Given the description of an element on the screen output the (x, y) to click on. 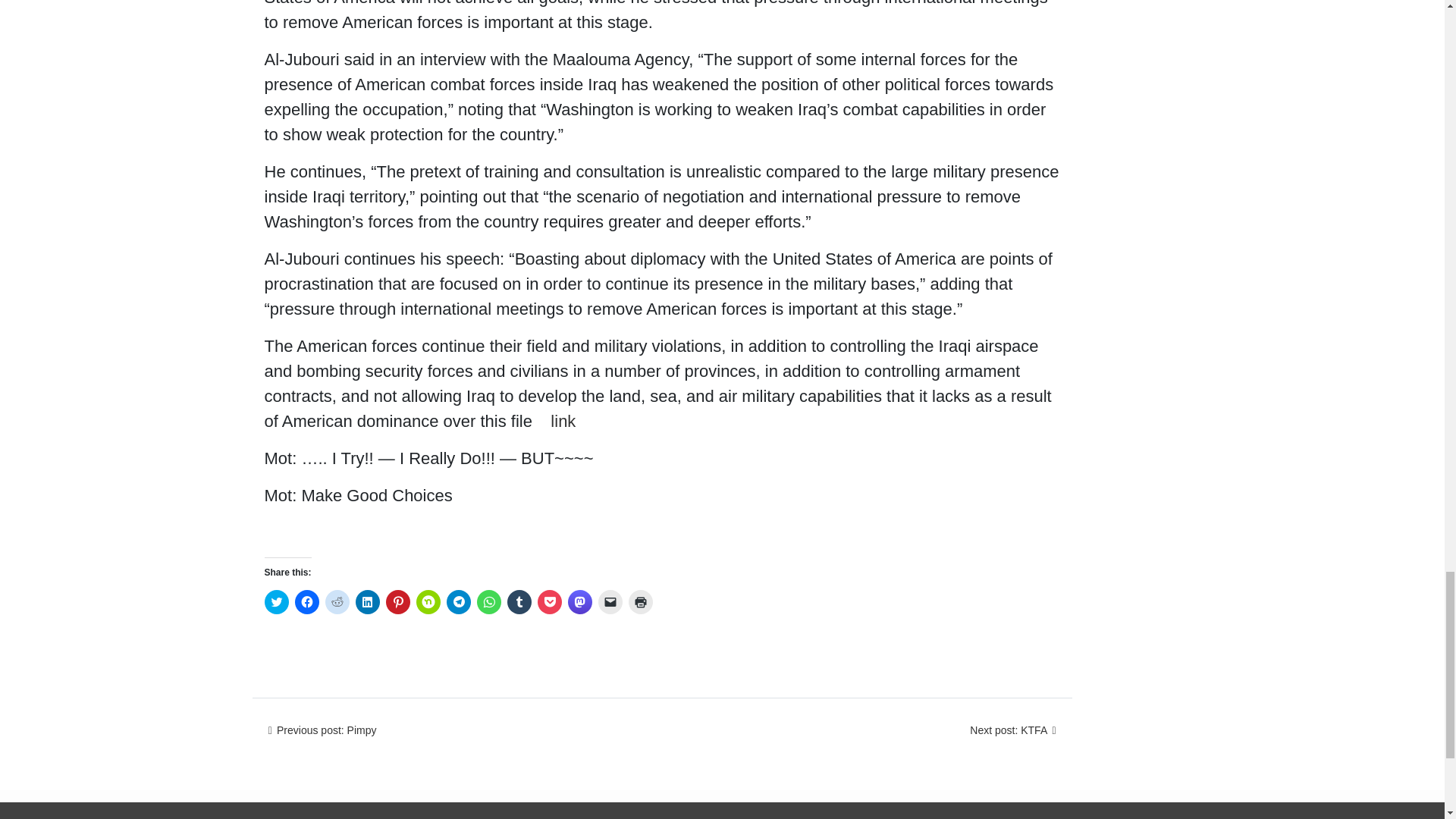
Click to email a link to a friend (608, 601)
Click to share on Nextdoor (426, 601)
Click to share on Pocket (548, 601)
Click to share on Tumblr (518, 601)
Click to share on Facebook (306, 601)
Click to print (639, 601)
Click to share on WhatsApp (488, 601)
Previous post: Pimpy (320, 729)
Click to share on Telegram (457, 601)
Next post: KTFA (1014, 729)
Click to share on Twitter (275, 601)
Click to share on Pinterest (397, 601)
Click to share on Reddit (336, 601)
link (562, 420)
Click to share on LinkedIn (366, 601)
